Given the description of an element on the screen output the (x, y) to click on. 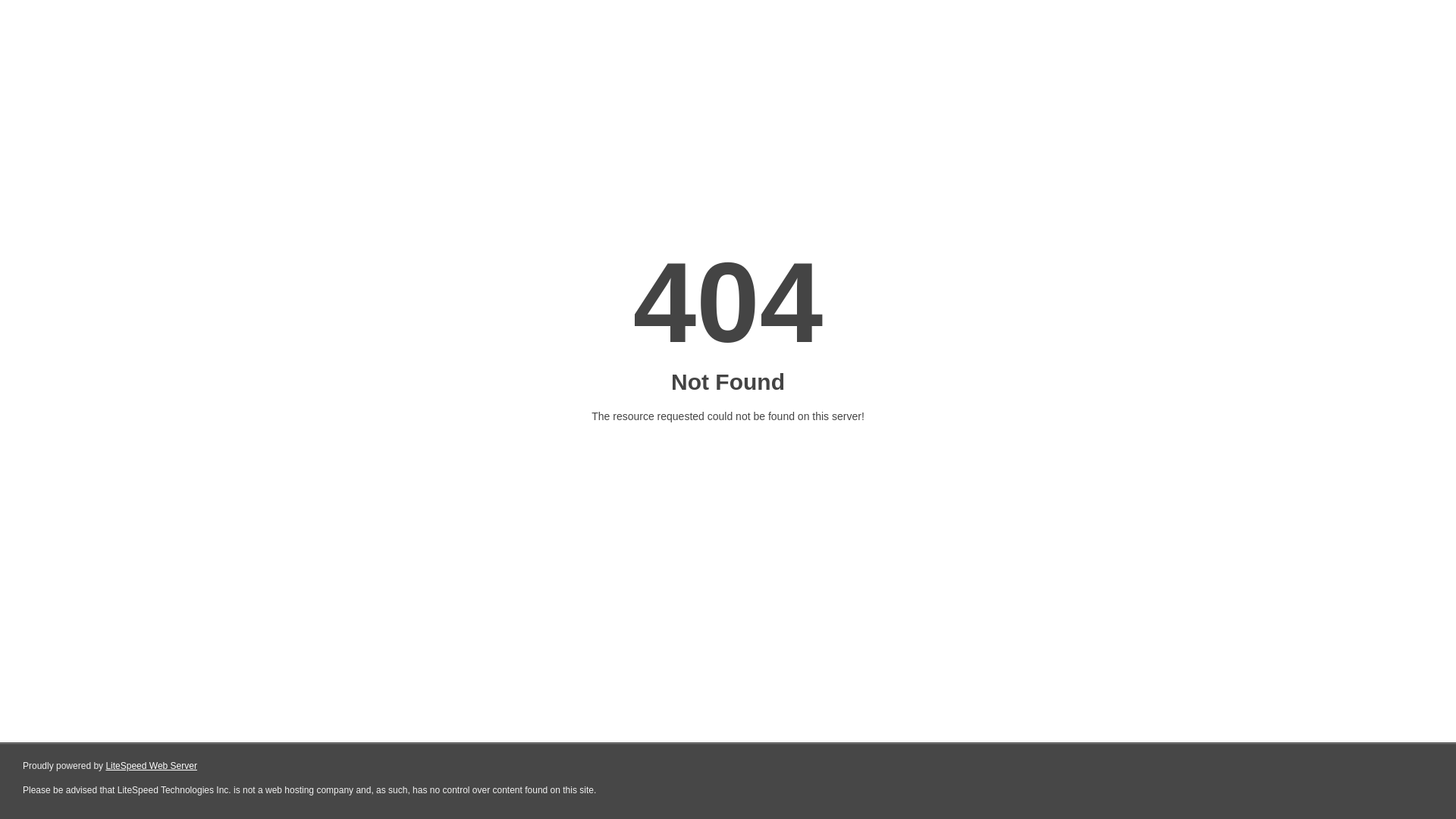
LiteSpeed Web Server Element type: text (151, 765)
